Given the description of an element on the screen output the (x, y) to click on. 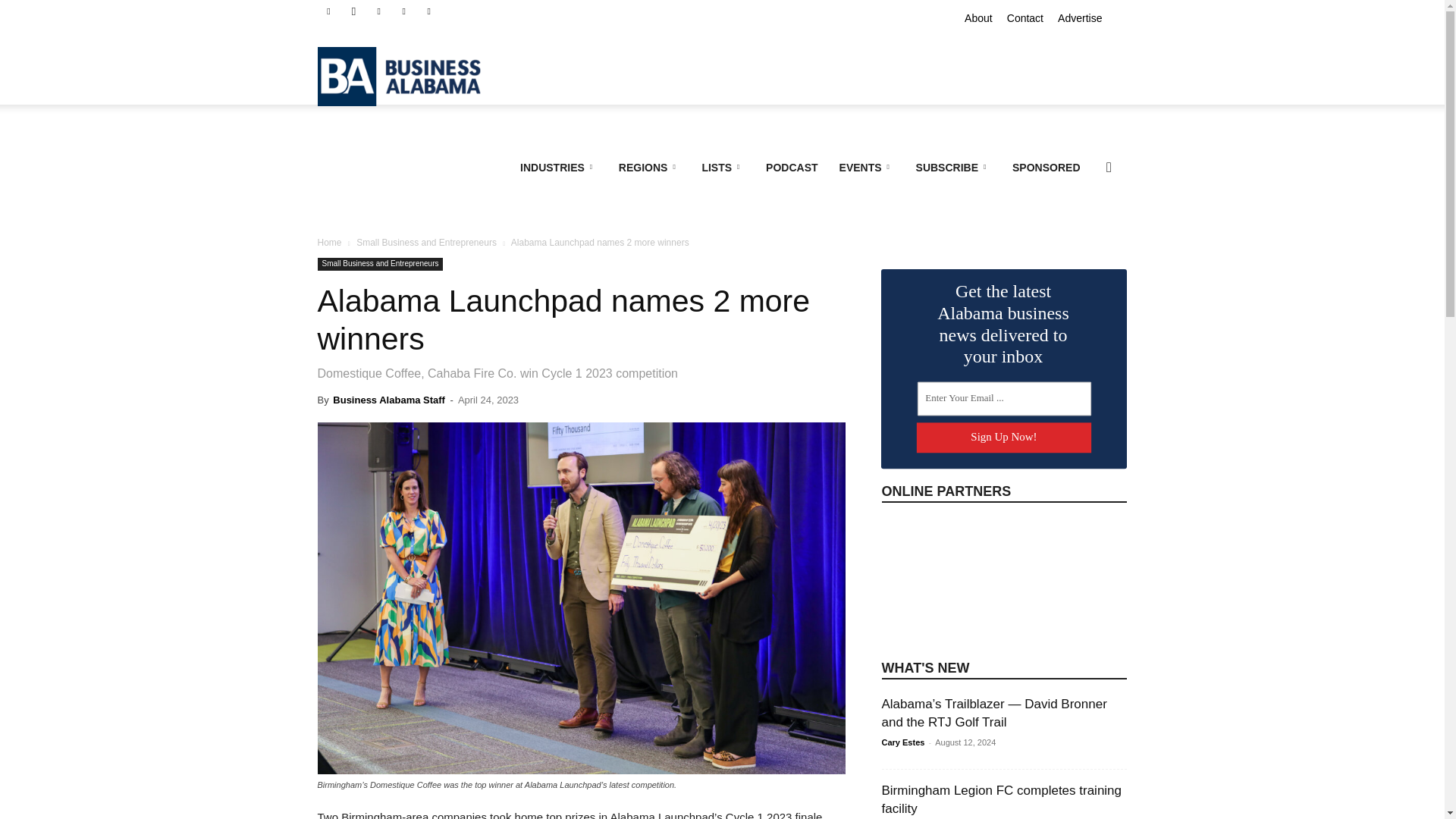
Business Alabama Magazine (406, 76)
Spotify (403, 10)
Instagram (353, 10)
Facebook (328, 10)
Twitter (429, 10)
Linkedin (379, 10)
